Given the description of an element on the screen output the (x, y) to click on. 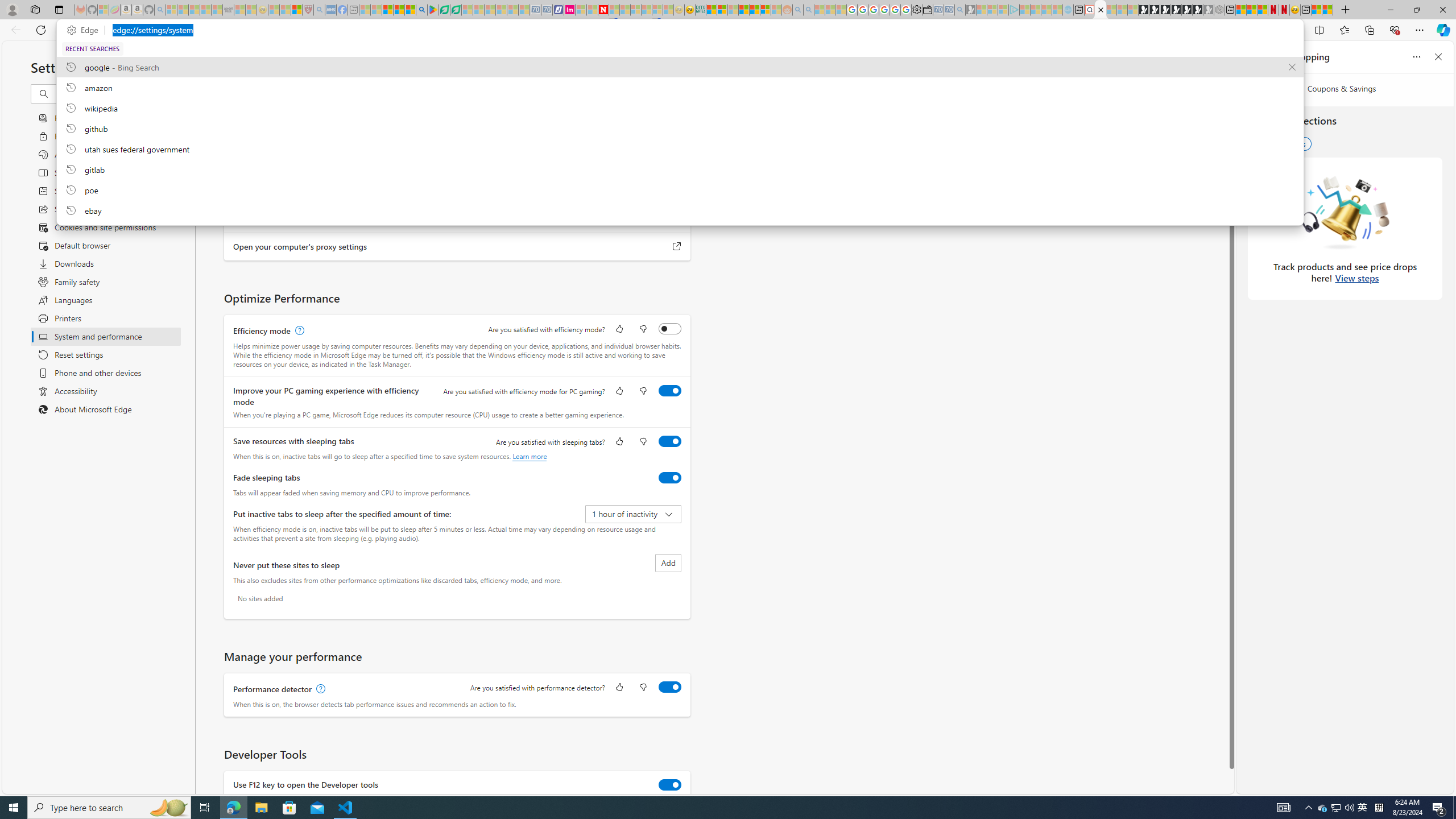
utah sues federal government, recent searches from history (679, 148)
google, recent searches from history (679, 66)
Efficiency mode (669, 328)
